Given the description of an element on the screen output the (x, y) to click on. 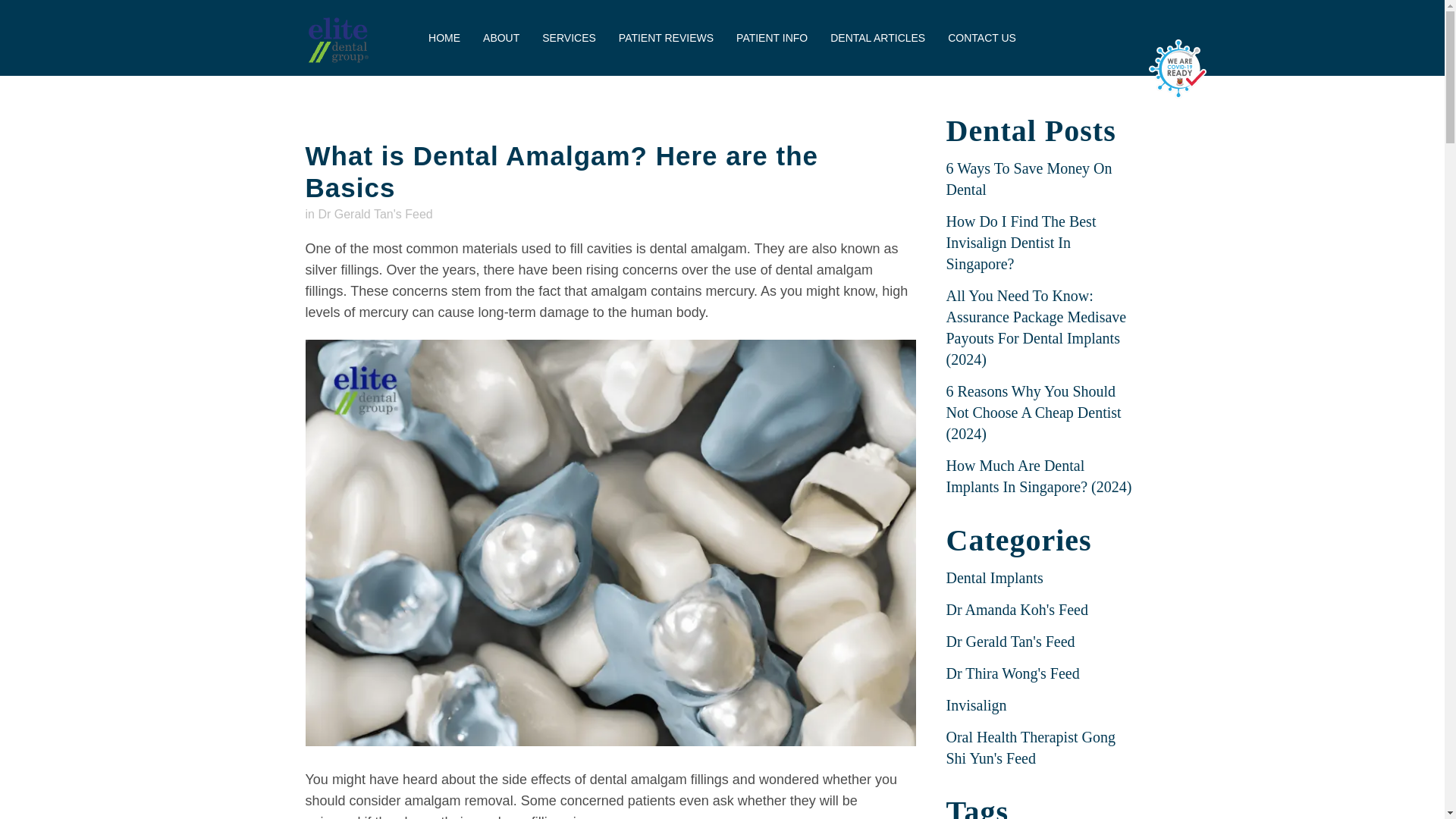
ABOUT (501, 37)
SERVICES (568, 37)
HOME (444, 37)
